Given the description of an element on the screen output the (x, y) to click on. 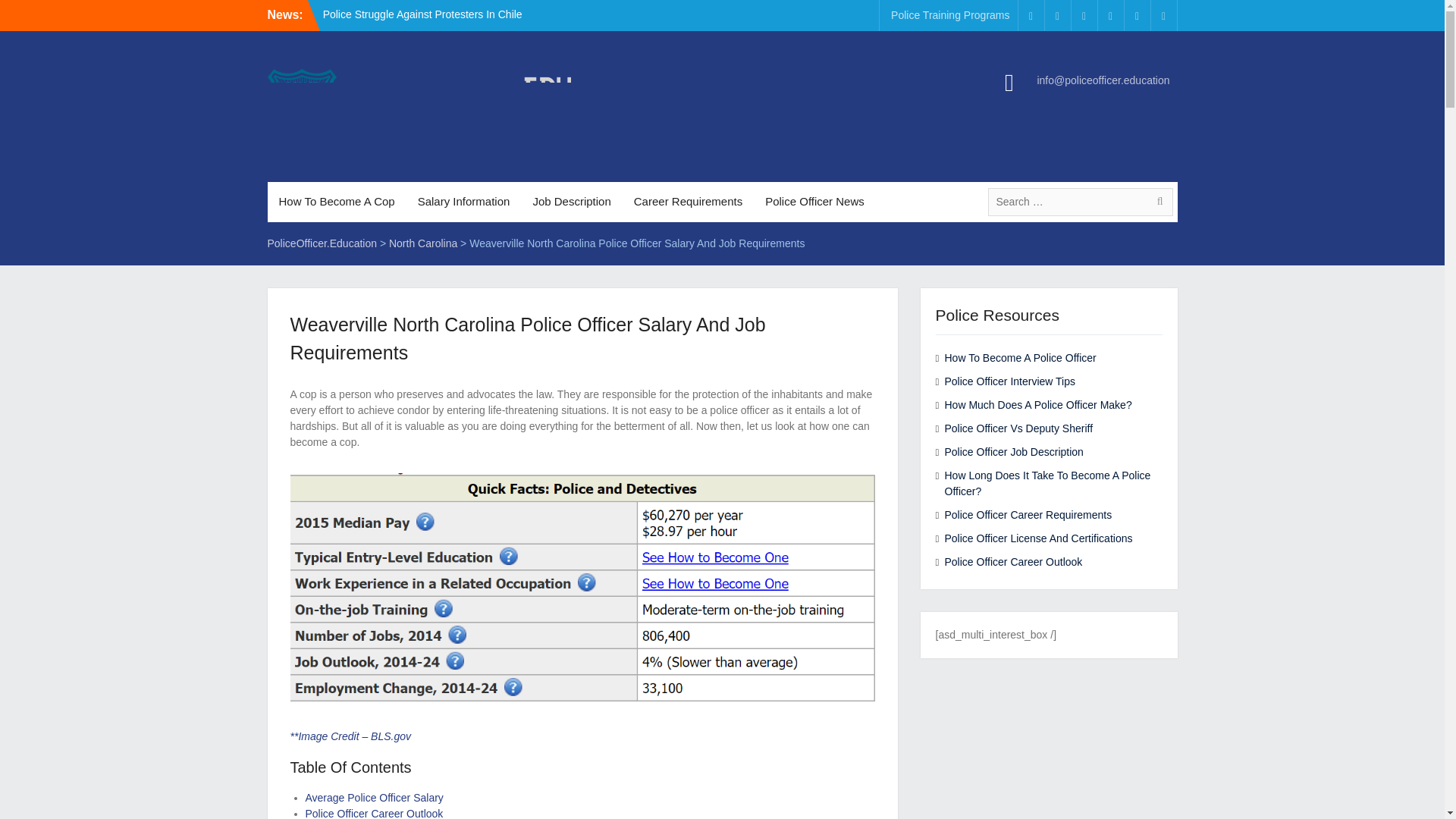
Police Officer Career Outlook (373, 813)
How To Become A Cop (336, 201)
Police Training Programs (949, 15)
Police Officer News (815, 201)
Salary Information (463, 201)
Go to the North Carolina State Career archives. (422, 242)
Job Description (571, 201)
Average Police Officer Salary (373, 797)
Go to PoliceOfficer.Education. (321, 242)
Career Requirements (688, 201)
